Given the description of an element on the screen output the (x, y) to click on. 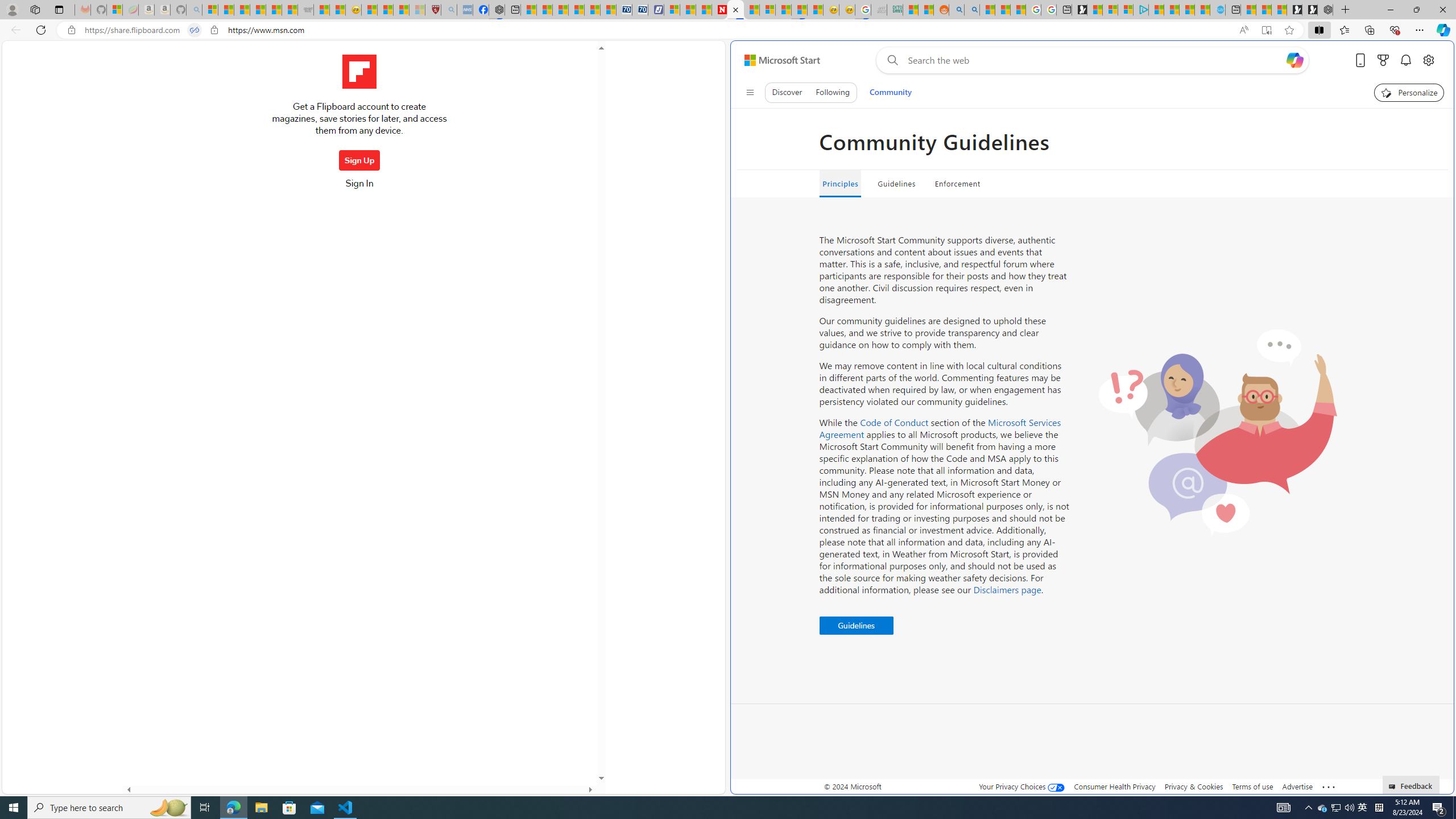
Guidelines  (855, 625)
Class: oneFooter_seeMore-DS-EntryPoint1-1 (1328, 786)
Community (889, 92)
Two people reacting contents (1216, 432)
Utah sues federal government - Search (971, 9)
12 Popular Science Lies that Must be Corrected - Sleeping (416, 9)
Your Privacy Choices (1021, 786)
